Given the description of an element on the screen output the (x, y) to click on. 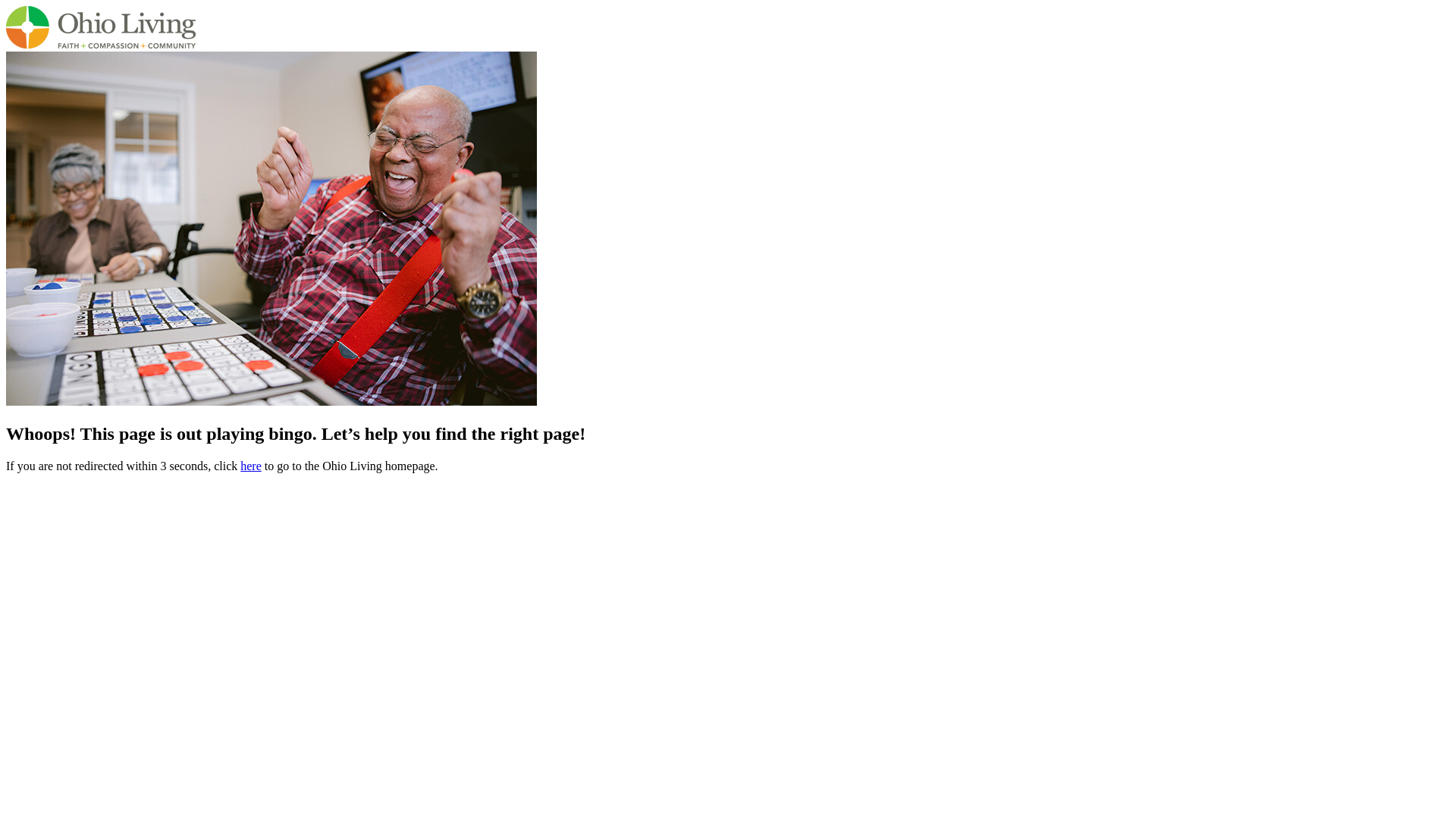
here (251, 465)
OL-Corporate RGB 4C (100, 26)
